Given the description of an element on the screen output the (x, y) to click on. 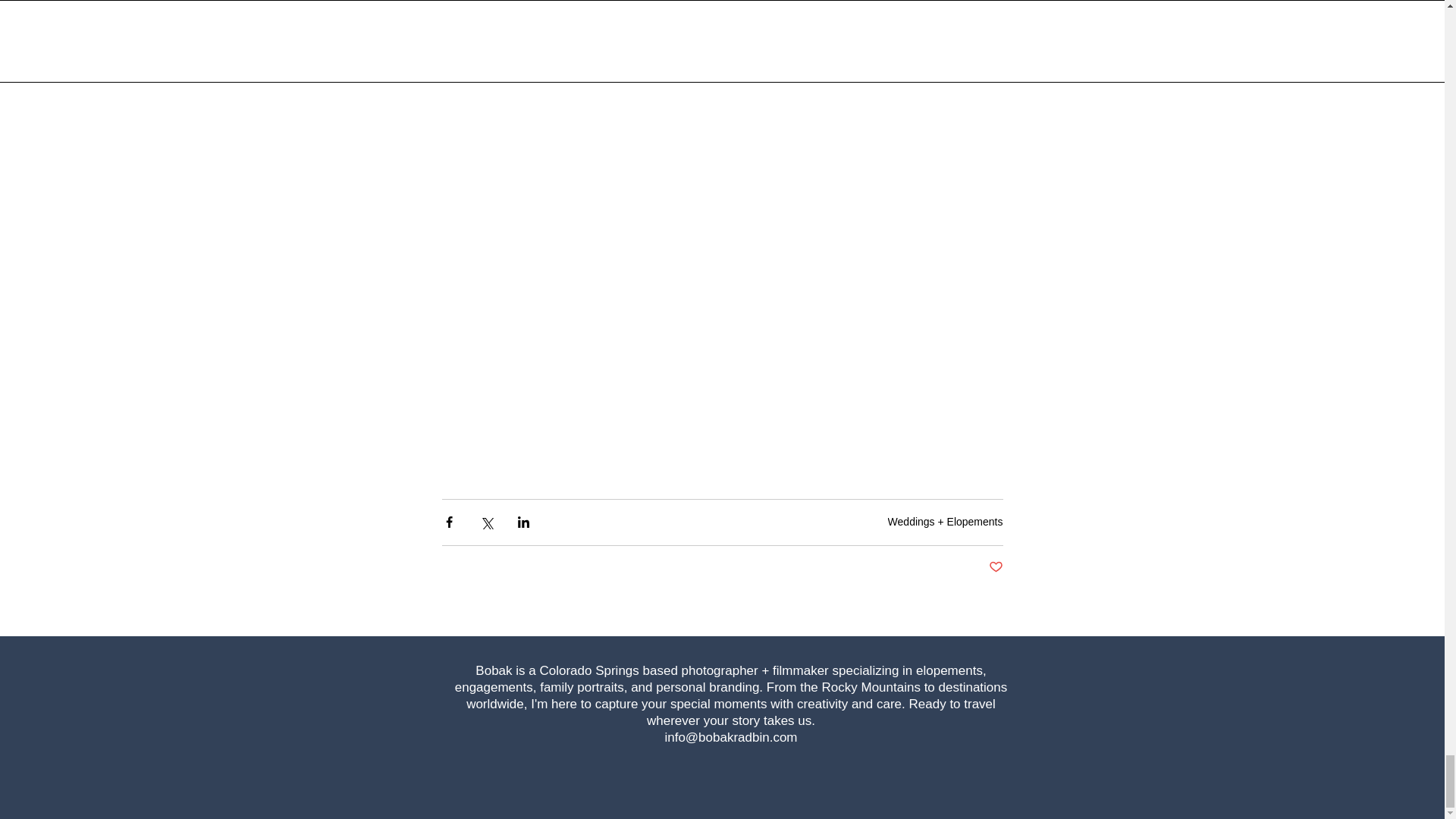
Post not marked as liked (995, 567)
